Given the description of an element on the screen output the (x, y) to click on. 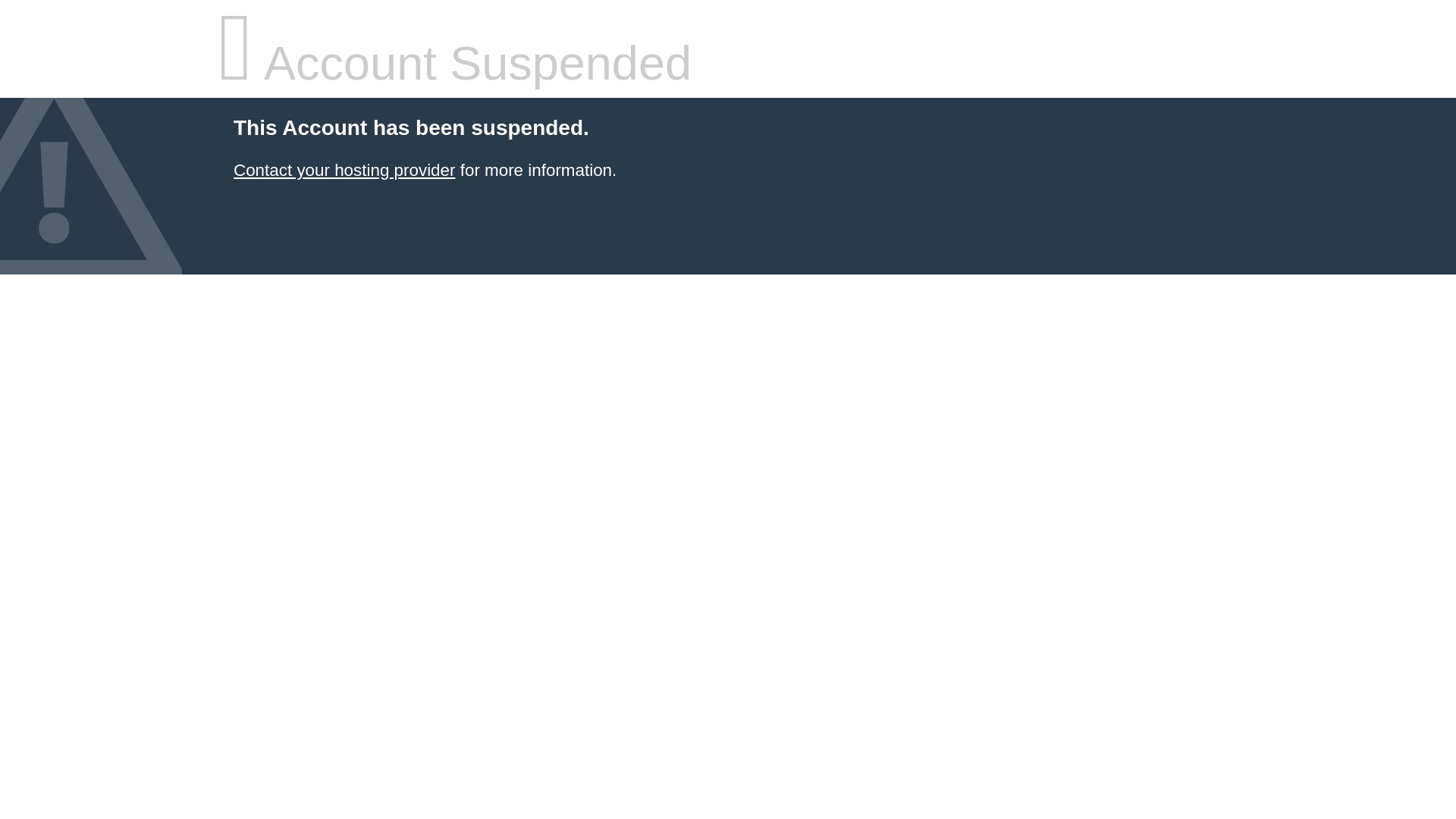
Contact your hosting provider (343, 169)
